Given the description of an element on the screen output the (x, y) to click on. 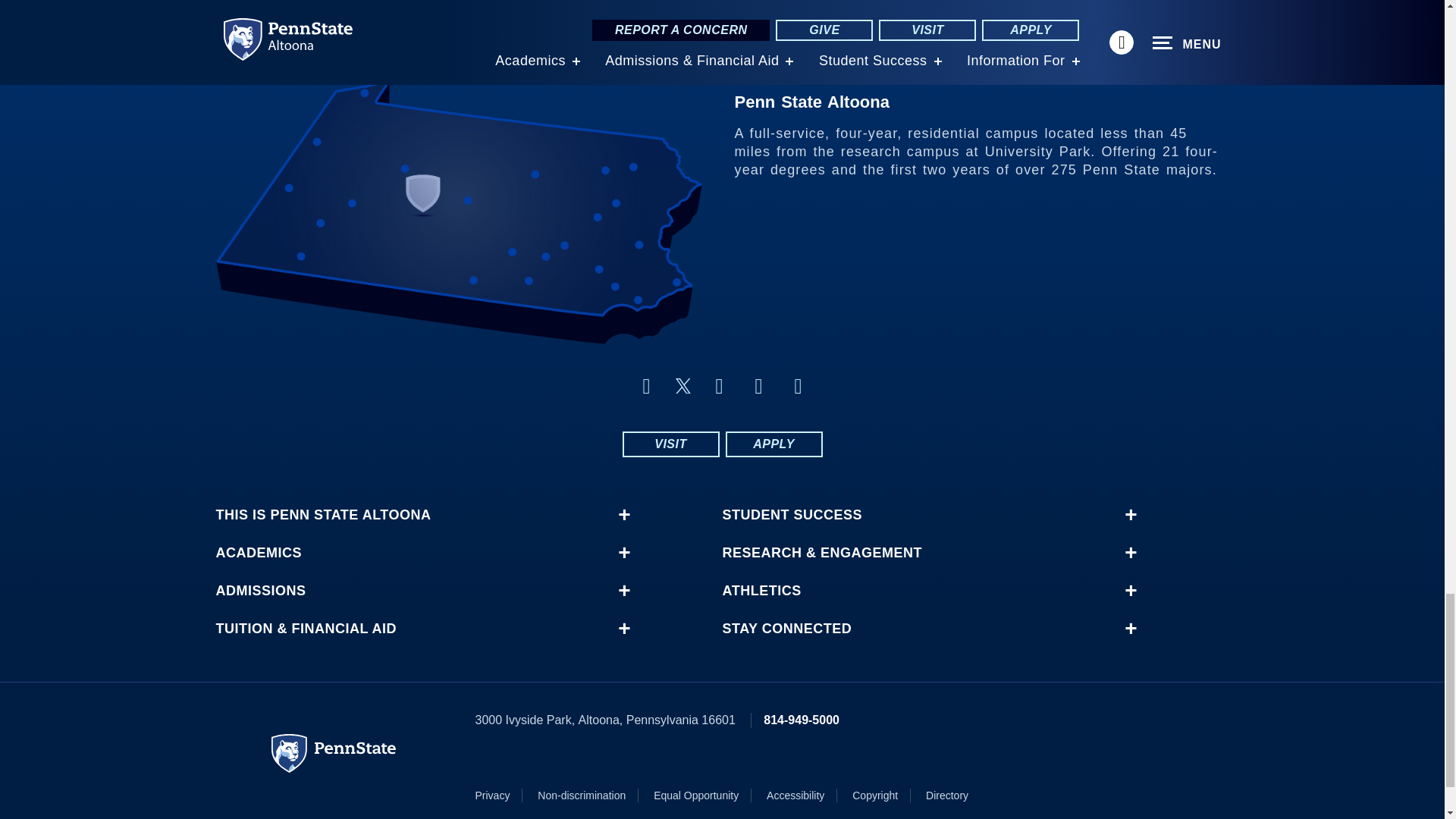
youtube (758, 386)
facebook (645, 386)
instagram (718, 386)
linkedin (797, 386)
